Given the description of an element on the screen output the (x, y) to click on. 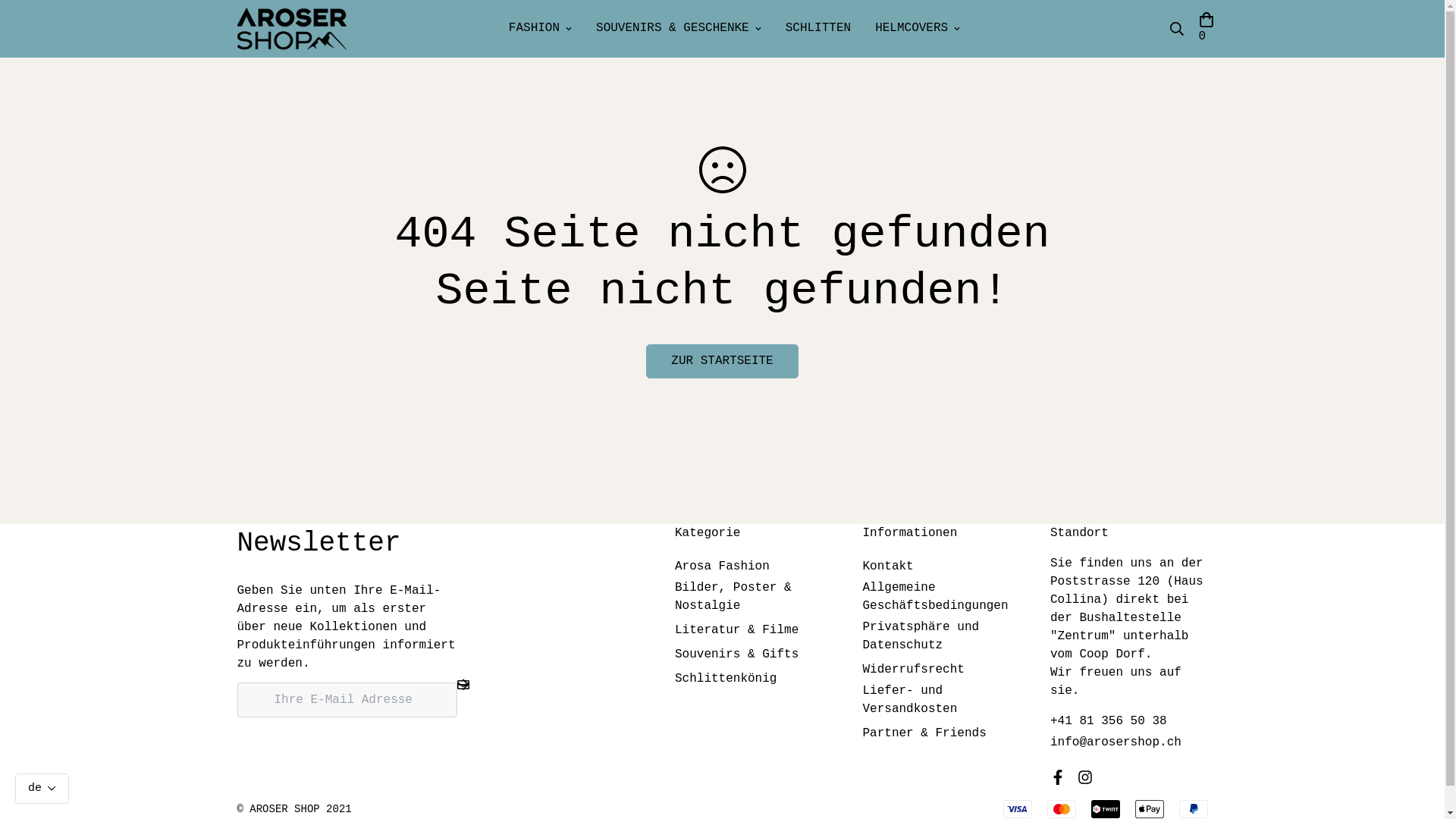
SCHLITTEN Element type: text (817, 28)
Arosa Fashion Element type: text (721, 566)
+41 81 356 50 38 Element type: text (1108, 721)
Literatur & Filme Element type: text (736, 630)
Widerrufsrecht Element type: text (913, 669)
FASHION Element type: text (539, 28)
Partner & Friends Element type: text (924, 733)
Kontakt Element type: text (887, 566)
HELMCOVERS Element type: text (917, 28)
de Element type: text (42, 788)
ZUR STARTSEITE Element type: text (721, 361)
Souvenirs & Gifts Element type: text (736, 654)
Bilder, Poster & Nostalgie Element type: text (753, 596)
SOUVENIRS & GESCHENKE Element type: text (678, 28)
0 Element type: text (1205, 28)
info@arosershop.ch Element type: text (1115, 742)
Liefer- und Versandkosten Element type: text (941, 699)
